Given the description of an element on the screen output the (x, y) to click on. 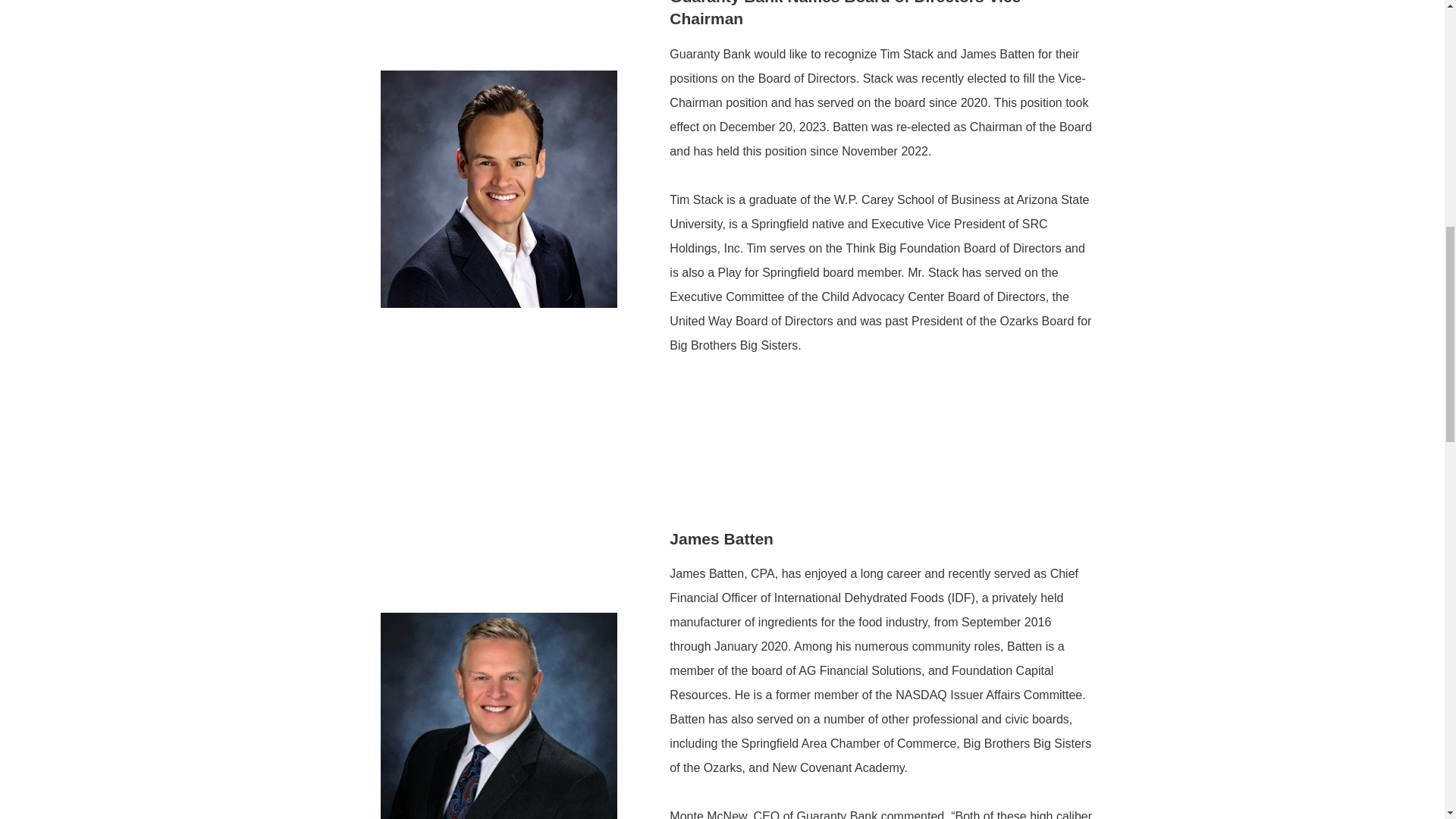
Tim Stack in a suit (498, 188)
Jim Batton (498, 715)
